Given the description of an element on the screen output the (x, y) to click on. 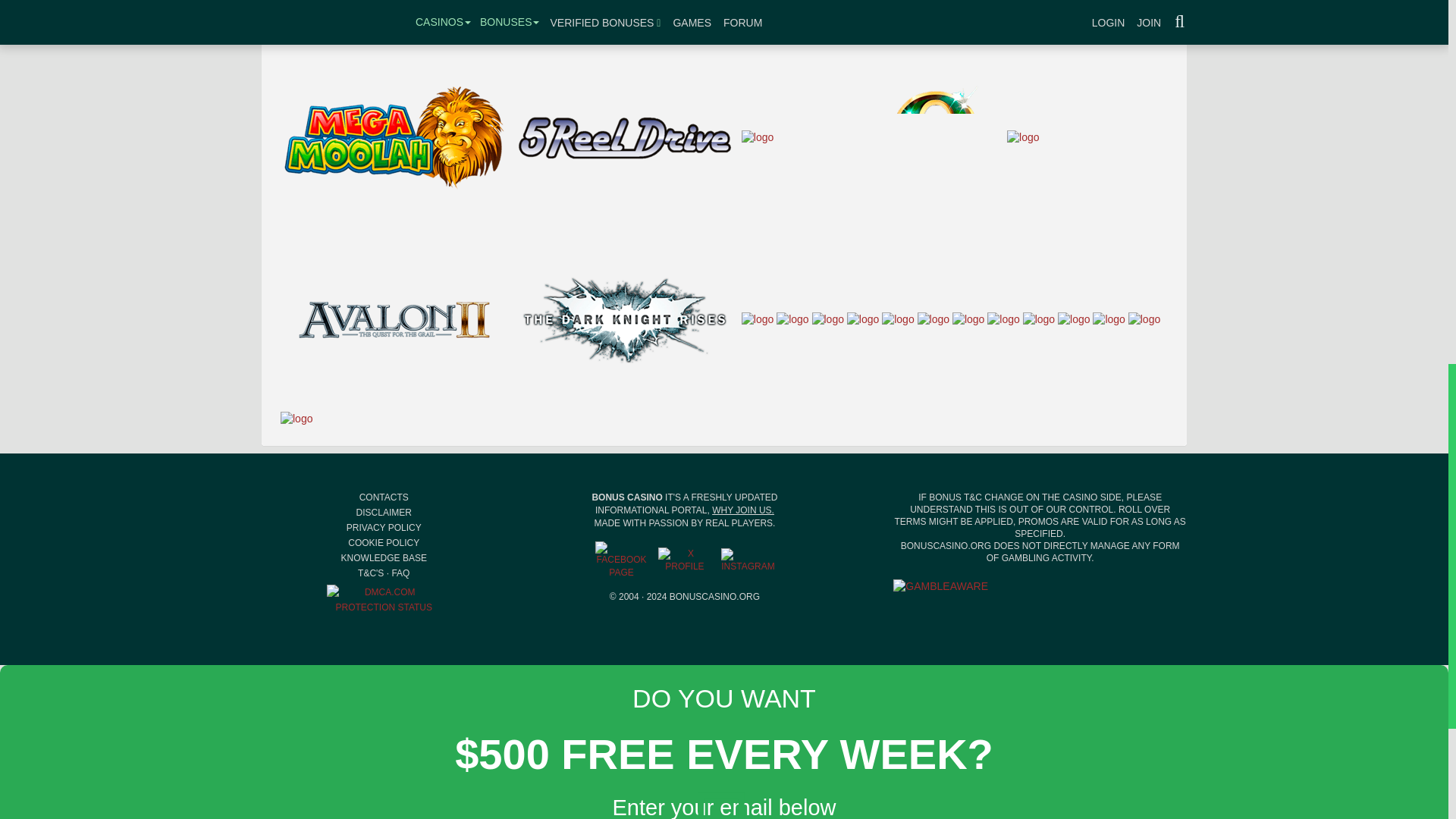
Knowledge Base (383, 557)
Join Bonus Casino, enjoy the benefits. (742, 510)
Contact us (384, 497)
DMCA.com Protection Status (383, 598)
FAQs (400, 573)
Disclaimer (384, 511)
Privacy Policy (384, 527)
Cookie Policy (383, 542)
